Given the description of an element on the screen output the (x, y) to click on. 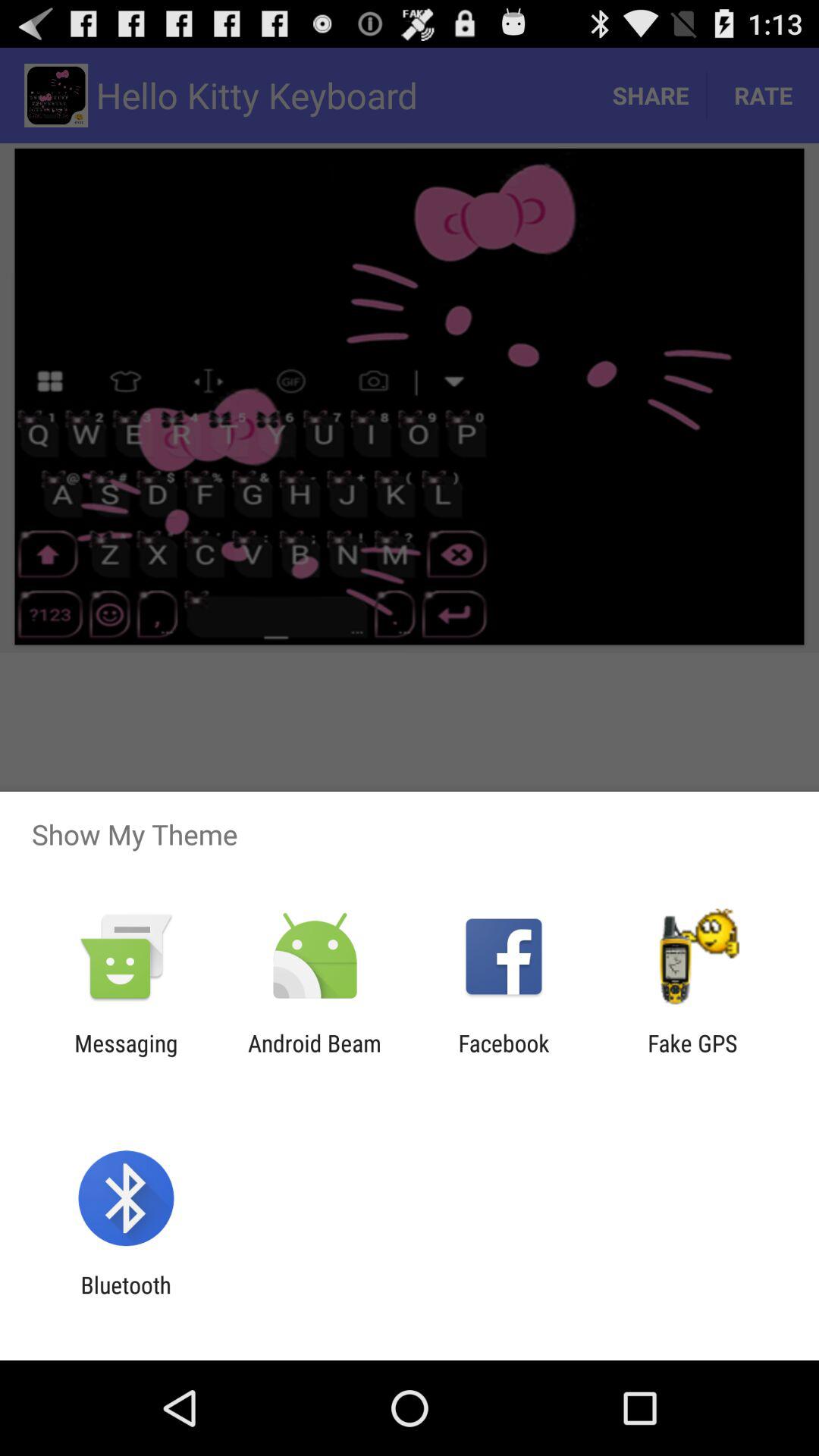
flip until android beam item (314, 1056)
